Given the description of an element on the screen output the (x, y) to click on. 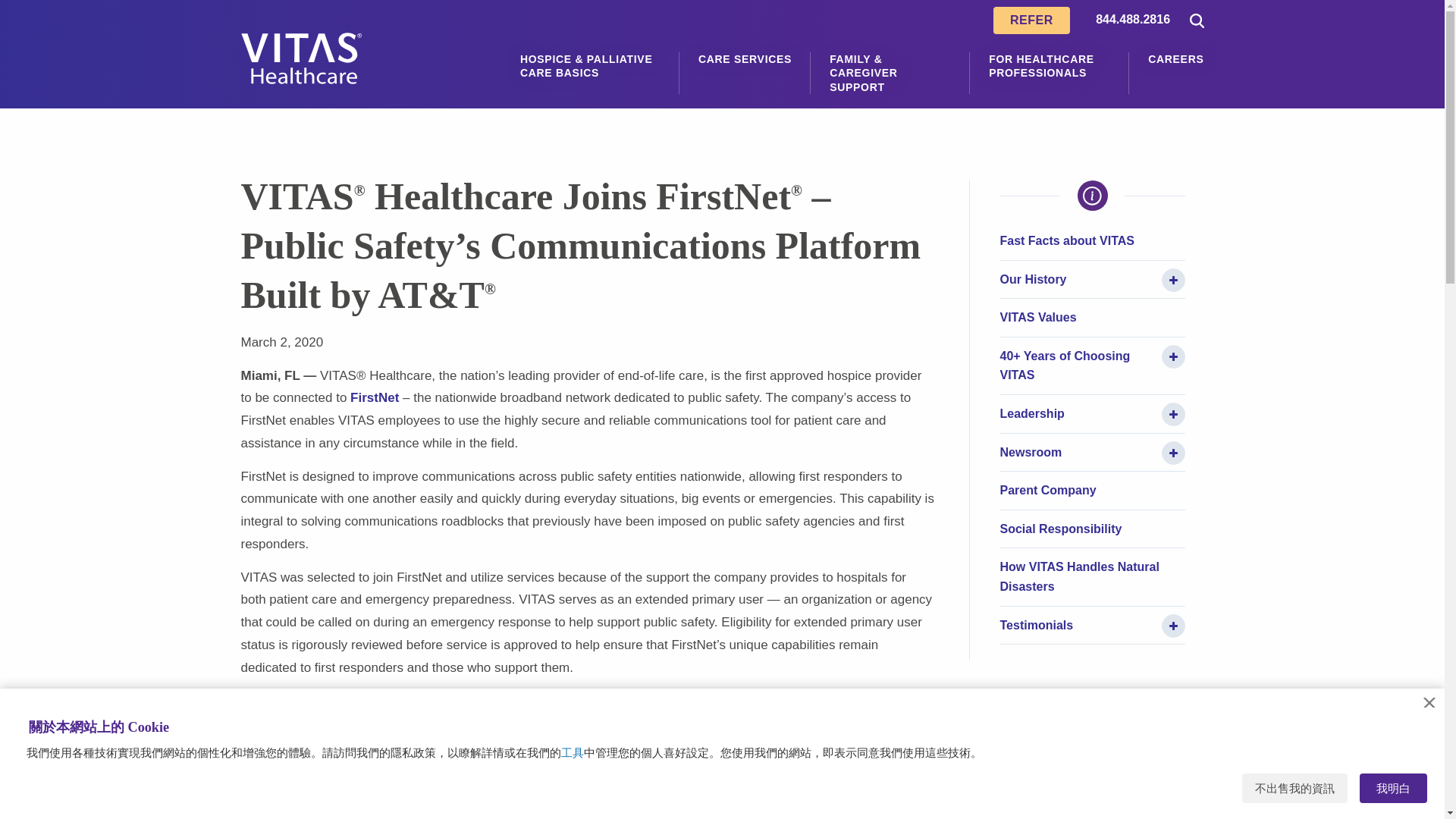
Toggle menu (1173, 626)
Toggle menu (1173, 413)
Toggle menu (1173, 453)
OPEN SEARCH (1194, 20)
Toggle menu (1173, 279)
Toggle menu (1173, 356)
FOR HEALTHCARE PROFESSIONALS (1048, 65)
REFER (1031, 20)
VITAS Healthcare (301, 58)
CARE SERVICES (744, 59)
844.488.2816 (1133, 19)
